Given the description of an element on the screen output the (x, y) to click on. 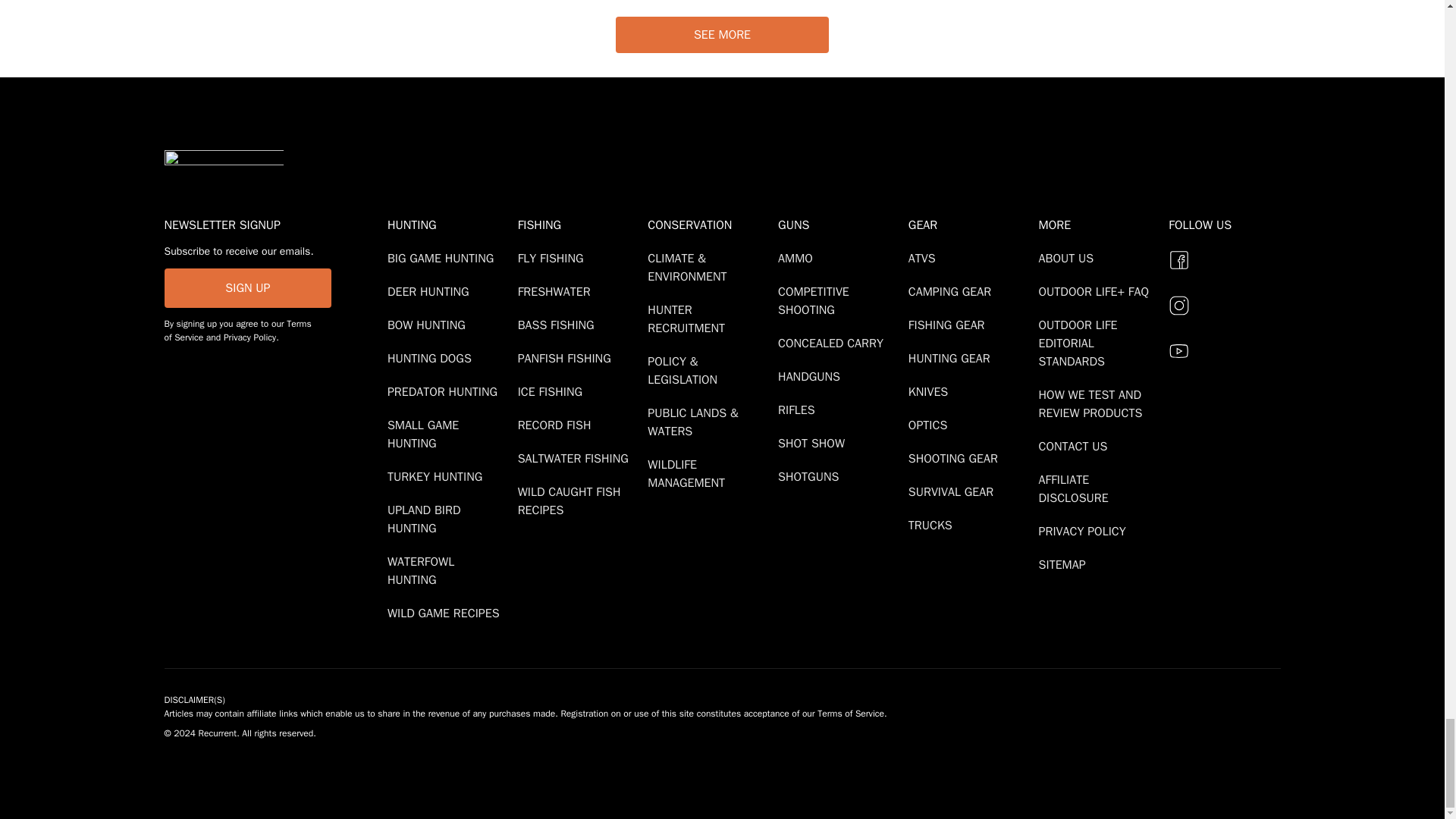
Big Game Hunting (443, 257)
Fly Fishing (553, 257)
Conservation (709, 224)
Fishing (580, 224)
Deer Hunting (431, 290)
Hunting (449, 224)
